Given the description of an element on the screen output the (x, y) to click on. 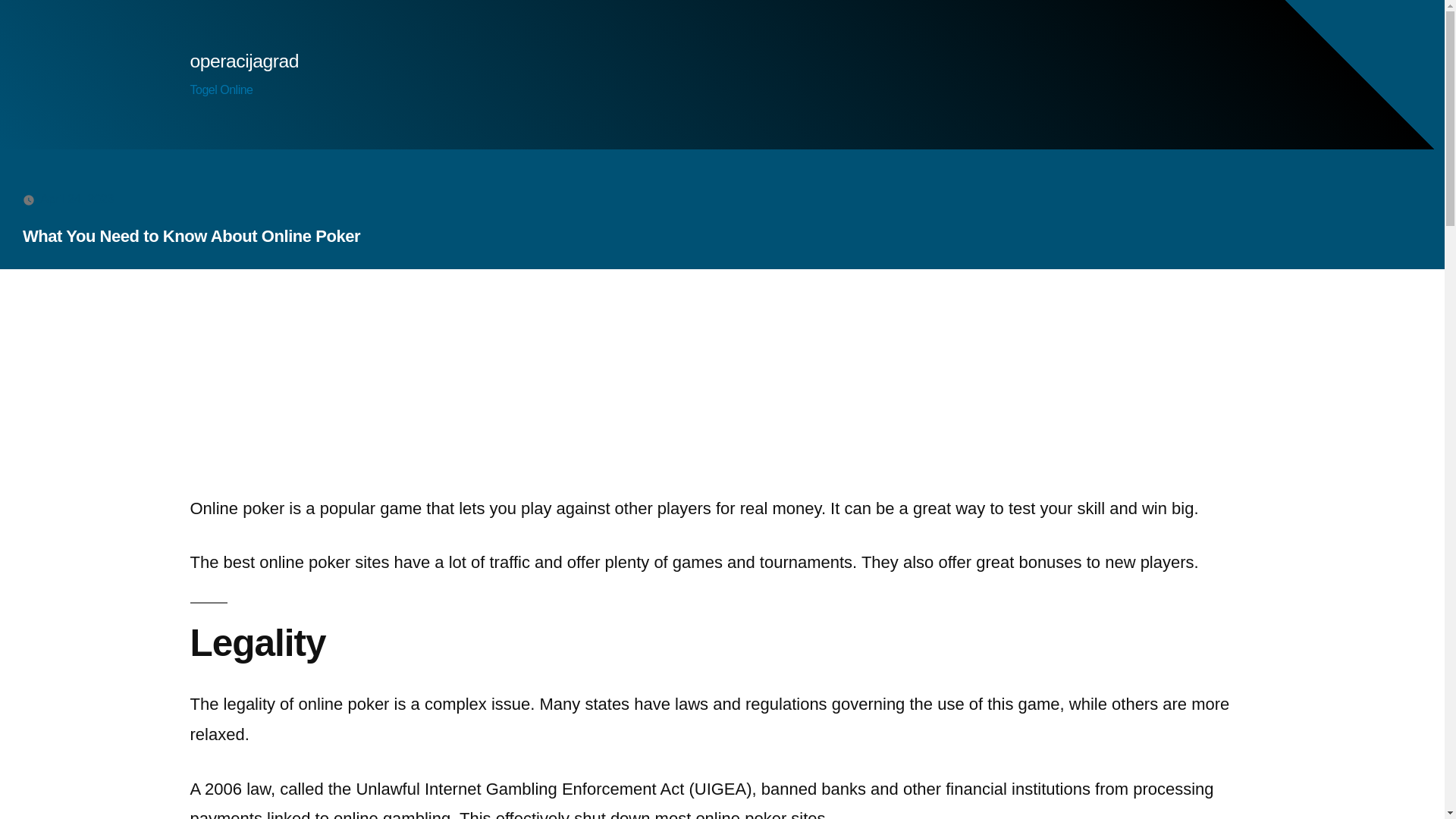
Togel Online (220, 89)
operacijagrad (243, 60)
April 24, 2023 (76, 198)
